Given the description of an element on the screen output the (x, y) to click on. 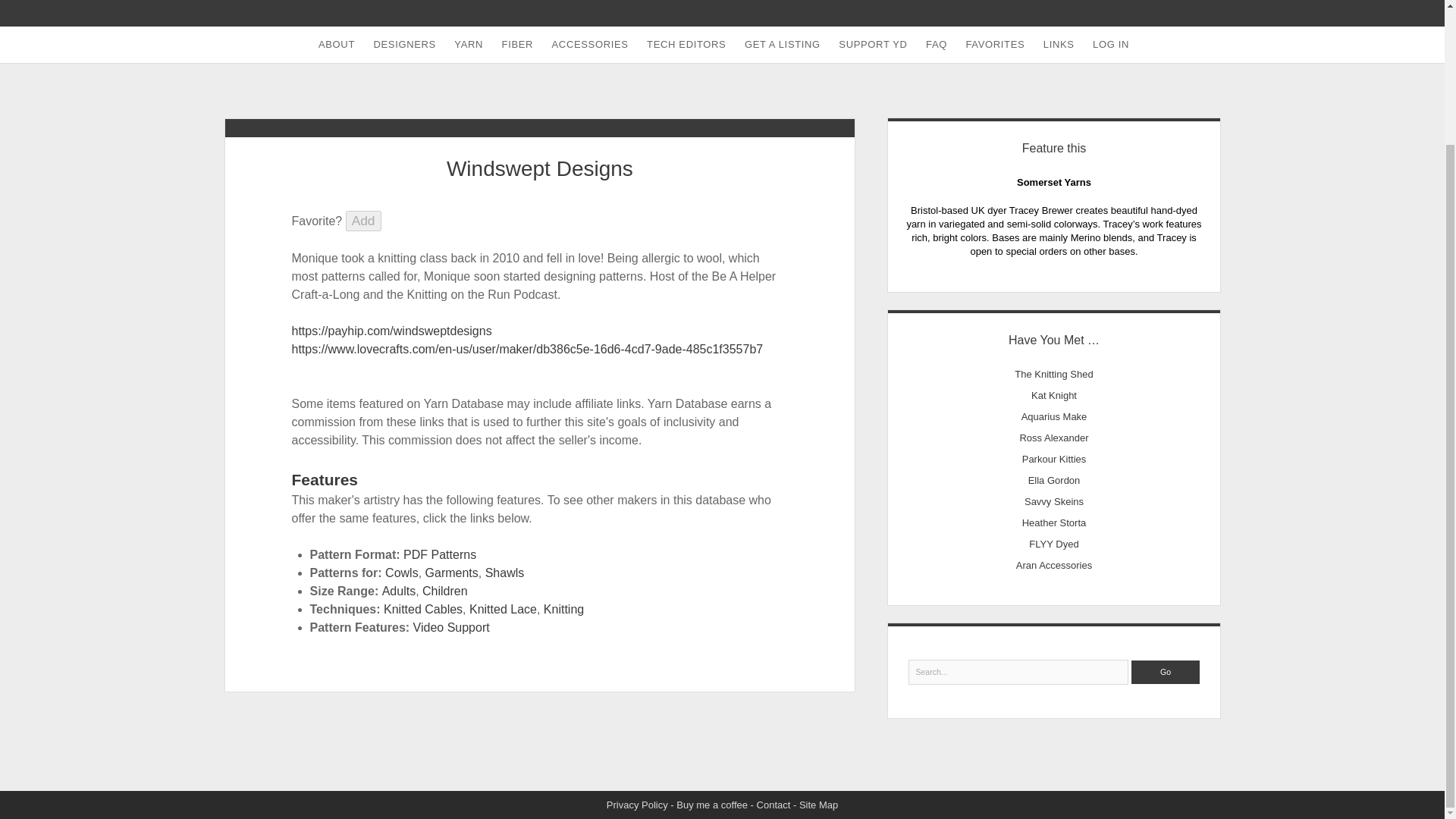
Search for: (1018, 672)
Shawls (504, 572)
ACCESSORIES (590, 44)
PDF Patterns (439, 554)
The Knitting Shed (1053, 374)
LINKS (1058, 44)
Knitted Lace (502, 608)
Add (363, 220)
LOG IN (1110, 44)
TECH EDITORS (686, 44)
Parkour Kitties (1054, 459)
FIBER (518, 44)
Adults (397, 590)
DESIGNERS (404, 44)
YARN (468, 44)
